Given the description of an element on the screen output the (x, y) to click on. 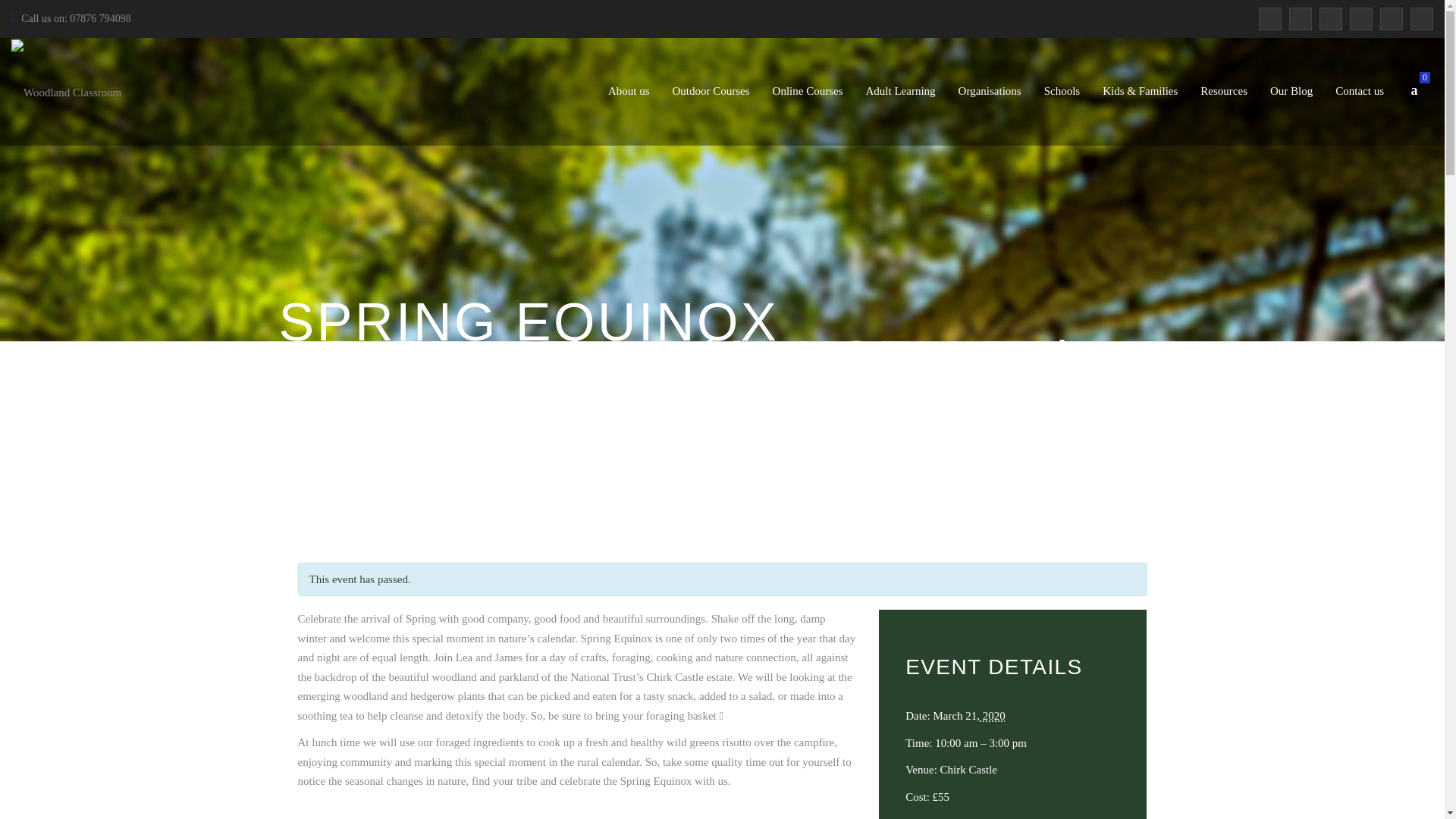
Online Courses (807, 90)
Youtube (1421, 18)
Adult Learning (900, 90)
LinkedIn (1361, 18)
Outdoor Courses (711, 90)
Pinterest (1330, 18)
2020-04-18 (991, 715)
Instagram (1391, 18)
About us (628, 90)
Facebook (1270, 18)
